Given the description of an element on the screen output the (x, y) to click on. 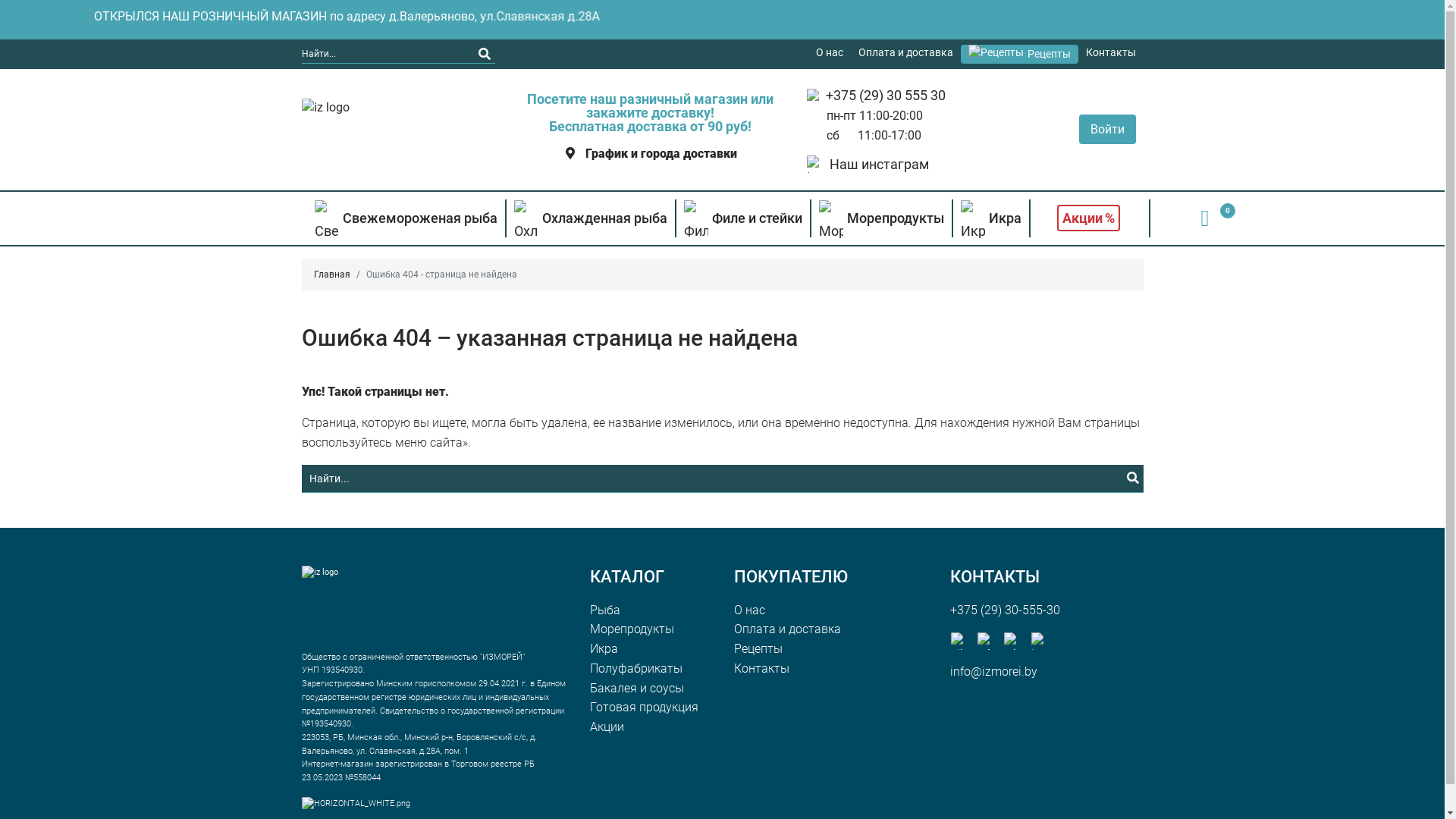
+375 (29) 30-555-30 Element type: text (1004, 609)
0 Element type: text (1205, 218)
+375 (29) 30 555 30 Element type: text (884, 94)
info@izmorei.by Element type: text (992, 671)
